Given the description of an element on the screen output the (x, y) to click on. 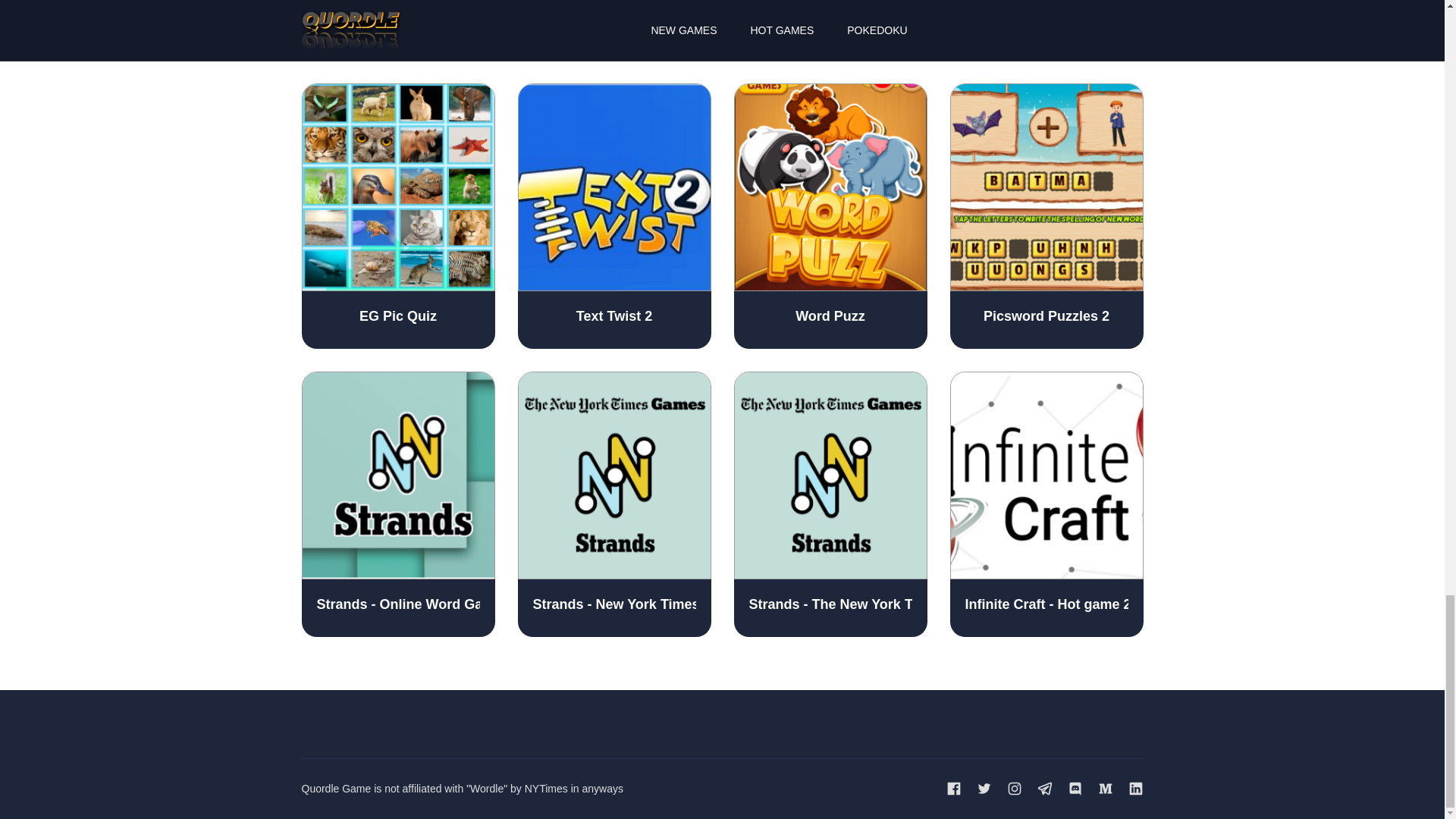
Text Twist (398, 30)
Wordle (830, 30)
Quordle Game (336, 788)
Play Dordle (613, 30)
Play Drawize - Draw and Guess Multiplayer (1045, 30)
Play Wordle (830, 30)
Play Text Twist (398, 30)
Dordle (613, 30)
Drawize - Draw and Guess Multiplayer (1045, 30)
